Given the description of an element on the screen output the (x, y) to click on. 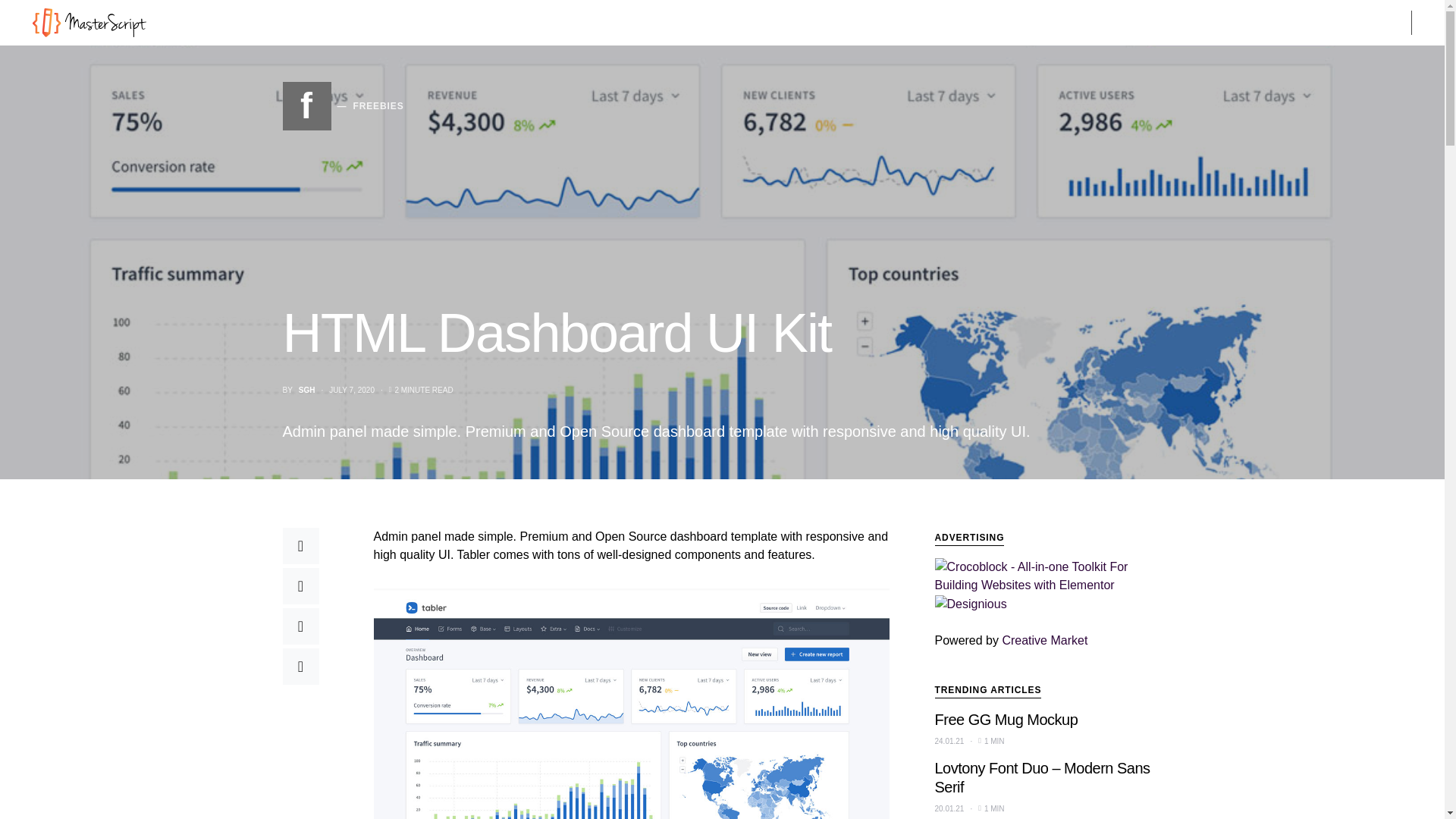
DESIGN (236, 22)
Designious (970, 602)
View all posts by SGH (306, 389)
